Given the description of an element on the screen output the (x, y) to click on. 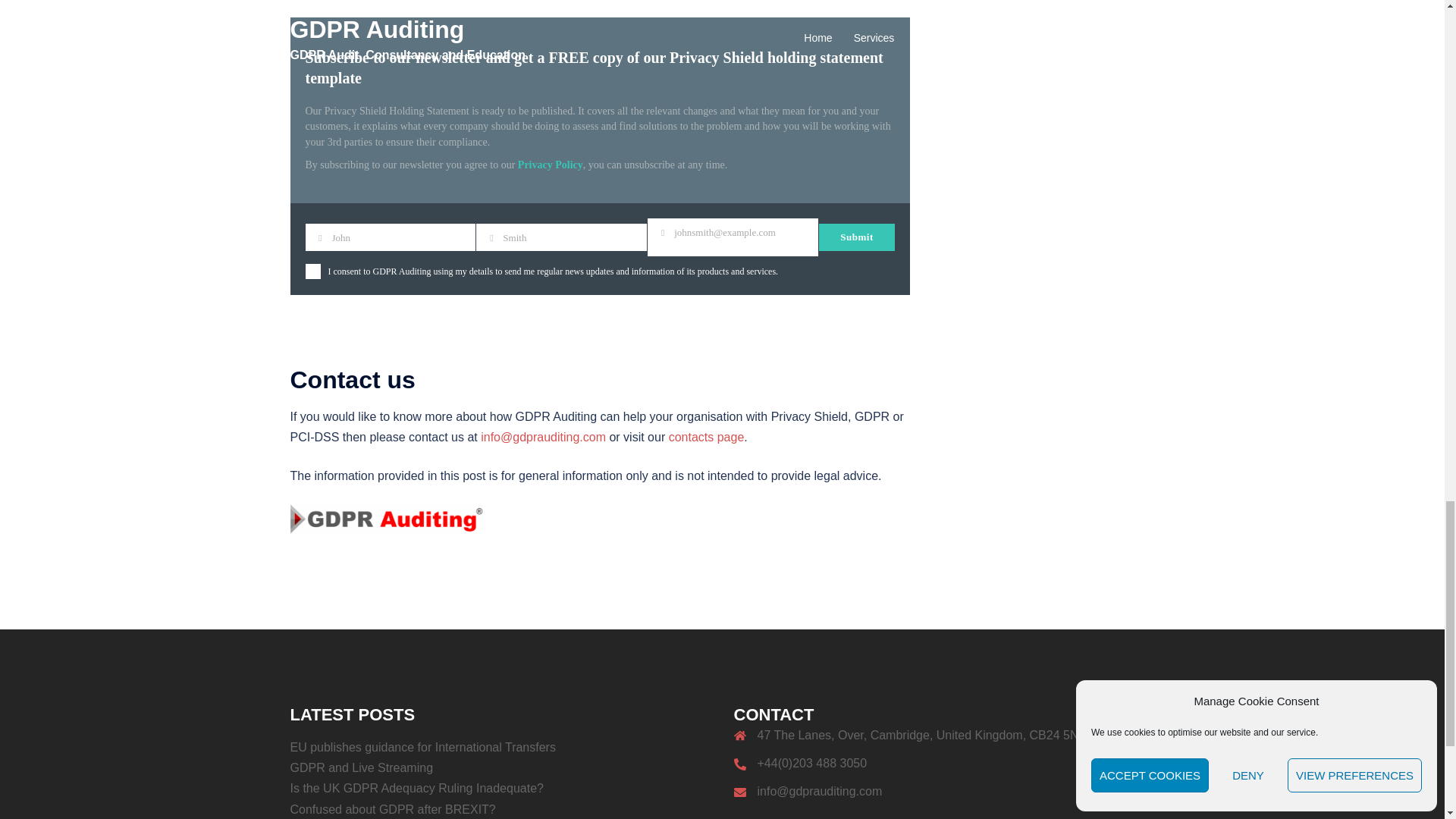
Submit (856, 236)
contacts page (706, 436)
Privacy Policy (550, 164)
